Given the description of an element on the screen output the (x, y) to click on. 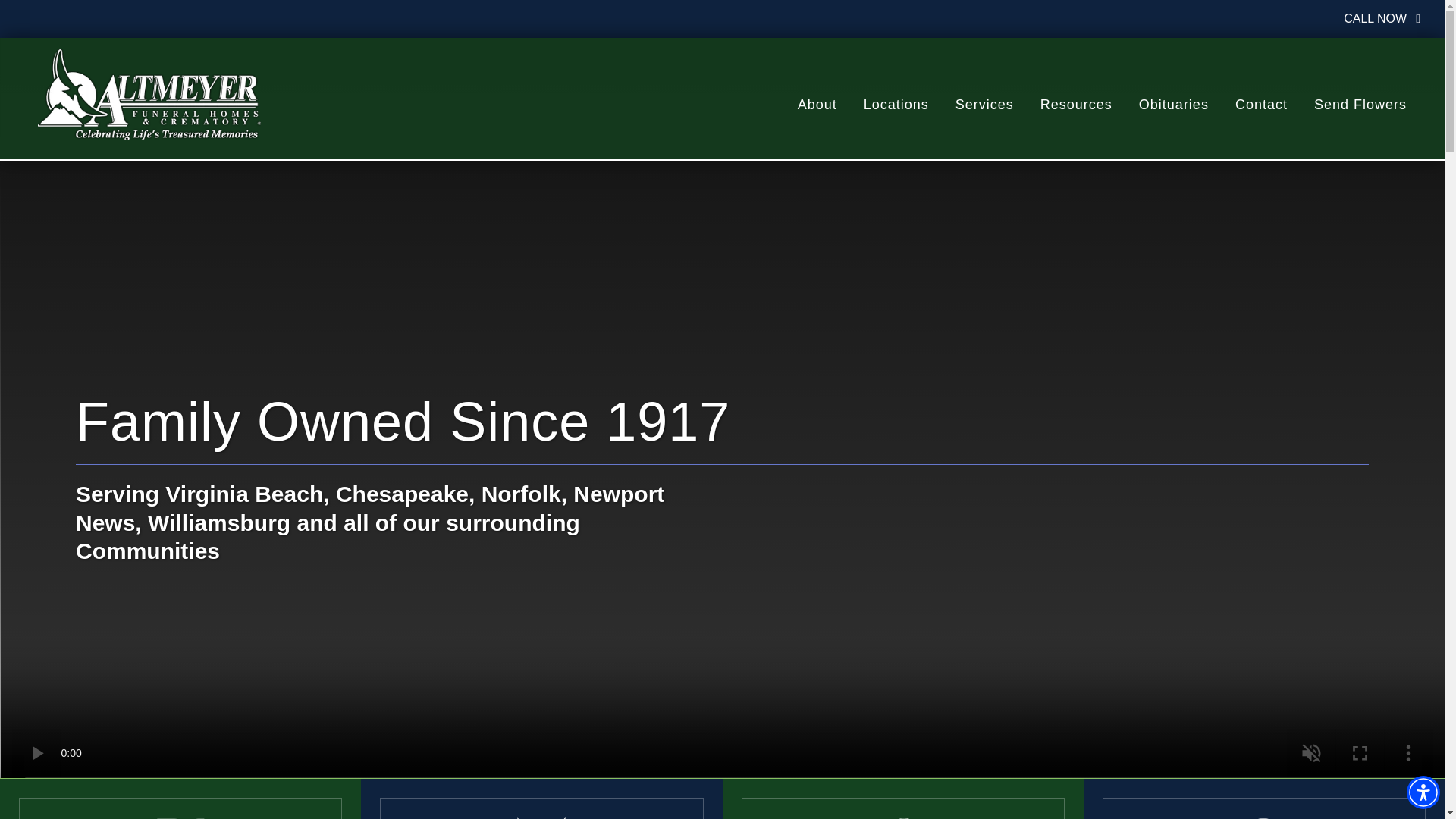
Dove icon (180, 818)
Obituaries (1173, 104)
Send Flowers (1360, 104)
Stylized rose icon (902, 818)
Contact (1260, 104)
Logo (148, 94)
Location marker icon (1263, 818)
American flag icon (541, 818)
Accessibility Menu (1422, 792)
